Given the description of an element on the screen output the (x, y) to click on. 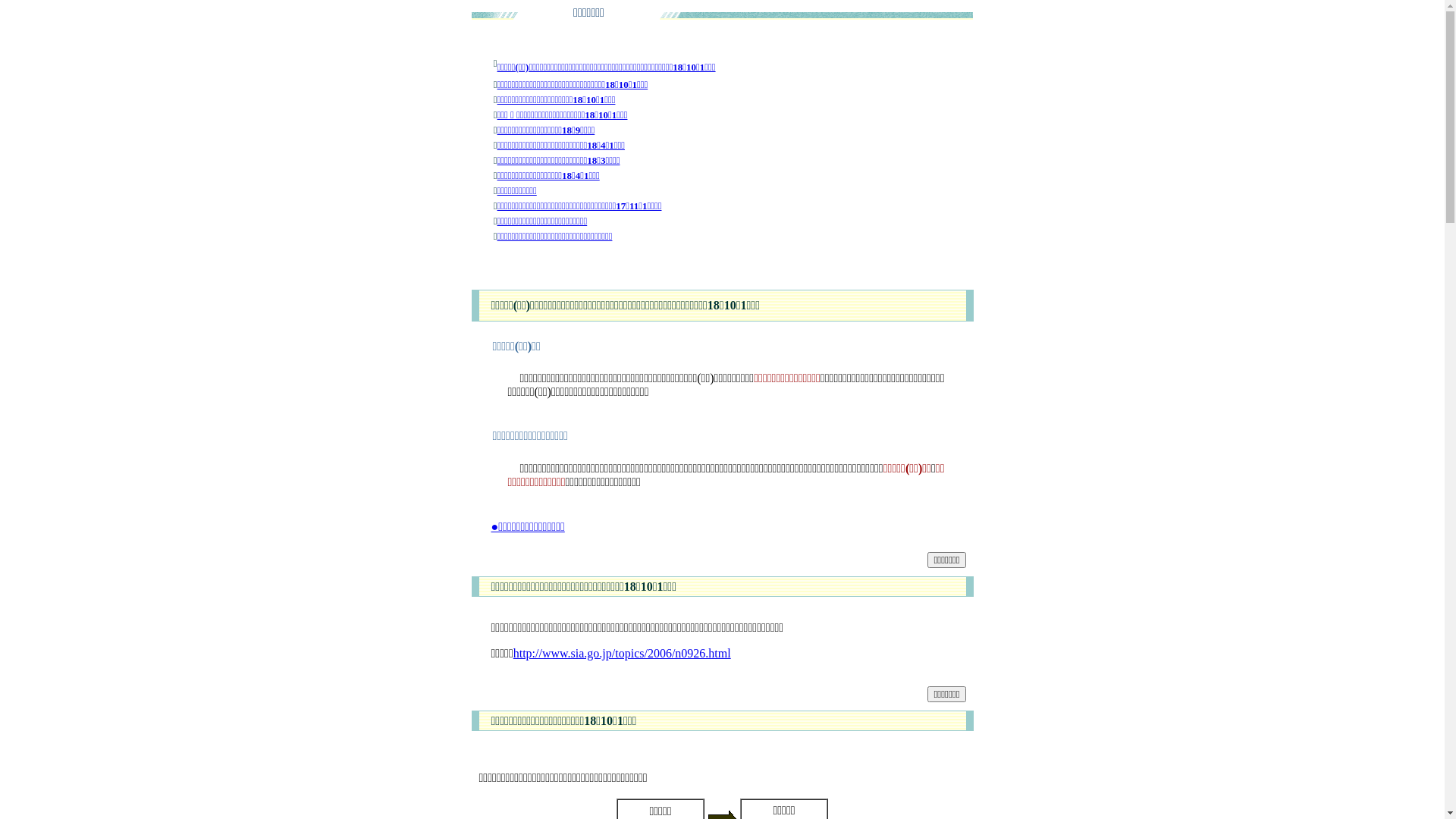
http://www.sia.go.jp/topics/2006/n0926.html Element type: text (622, 652)
